Given the description of an element on the screen output the (x, y) to click on. 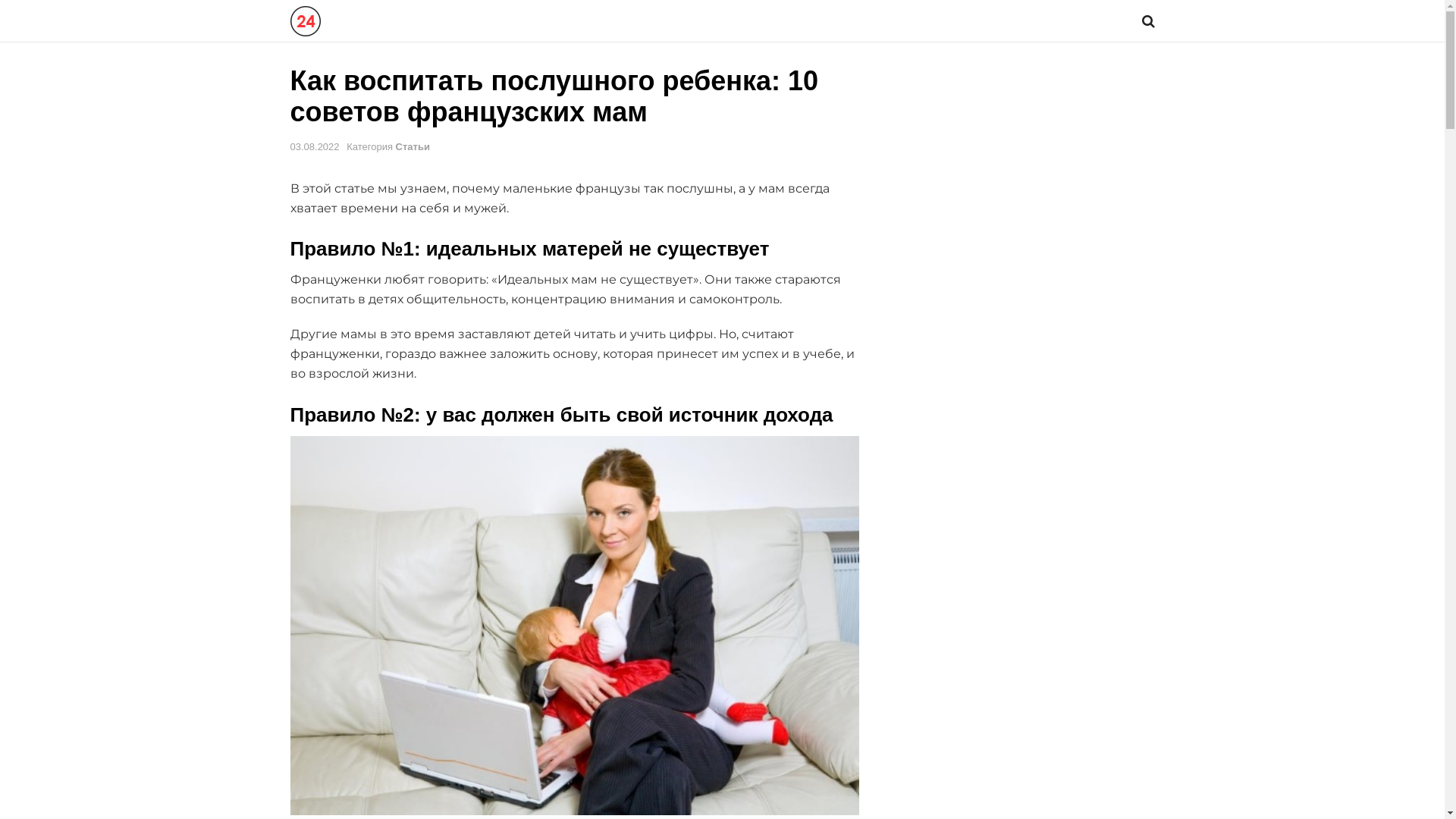
03.08.2022 Element type: text (313, 146)
Advertisement Element type: hover (1023, 292)
